Given the description of an element on the screen output the (x, y) to click on. 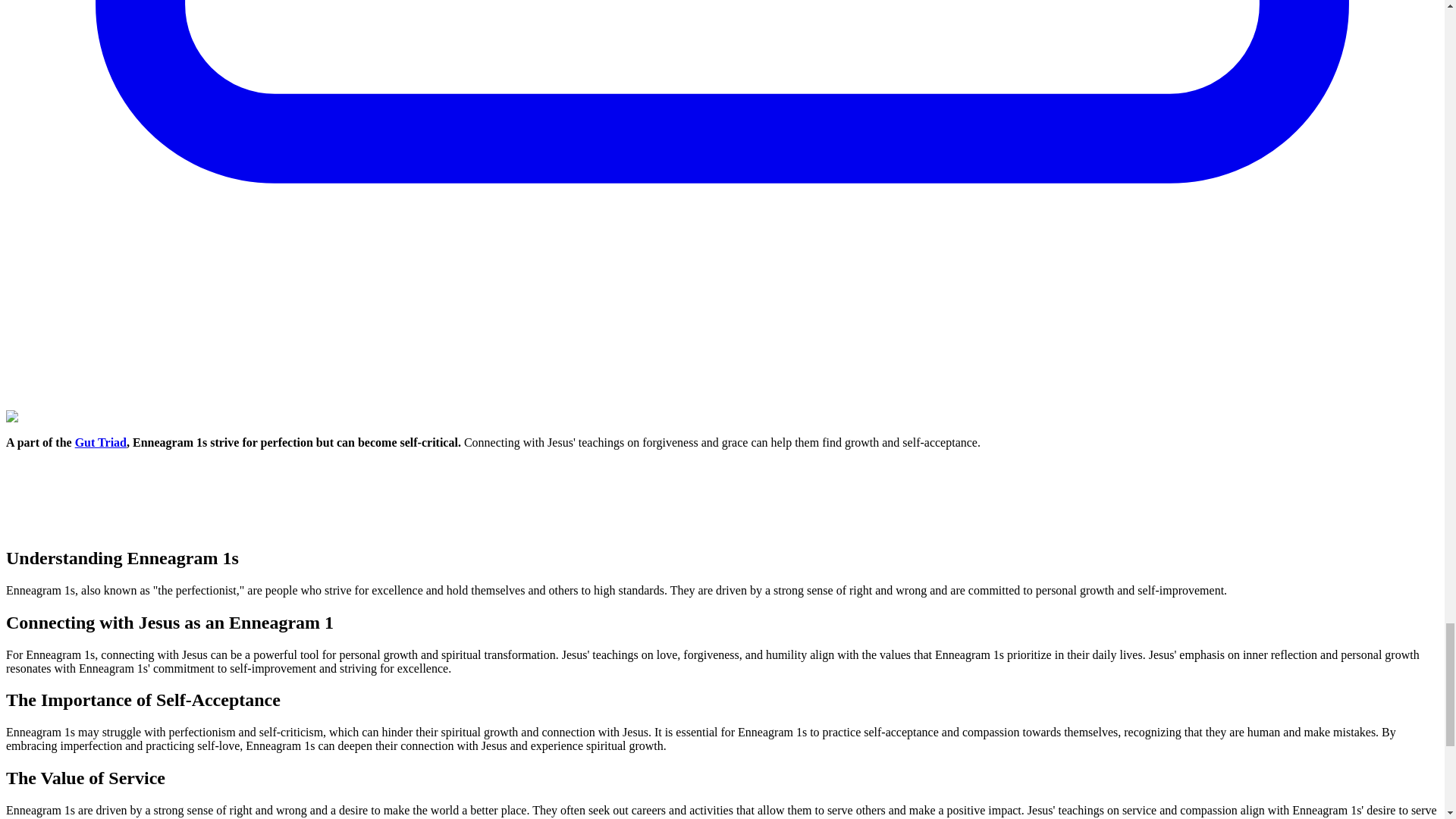
Gut Triad (100, 441)
